Given the description of an element on the screen output the (x, y) to click on. 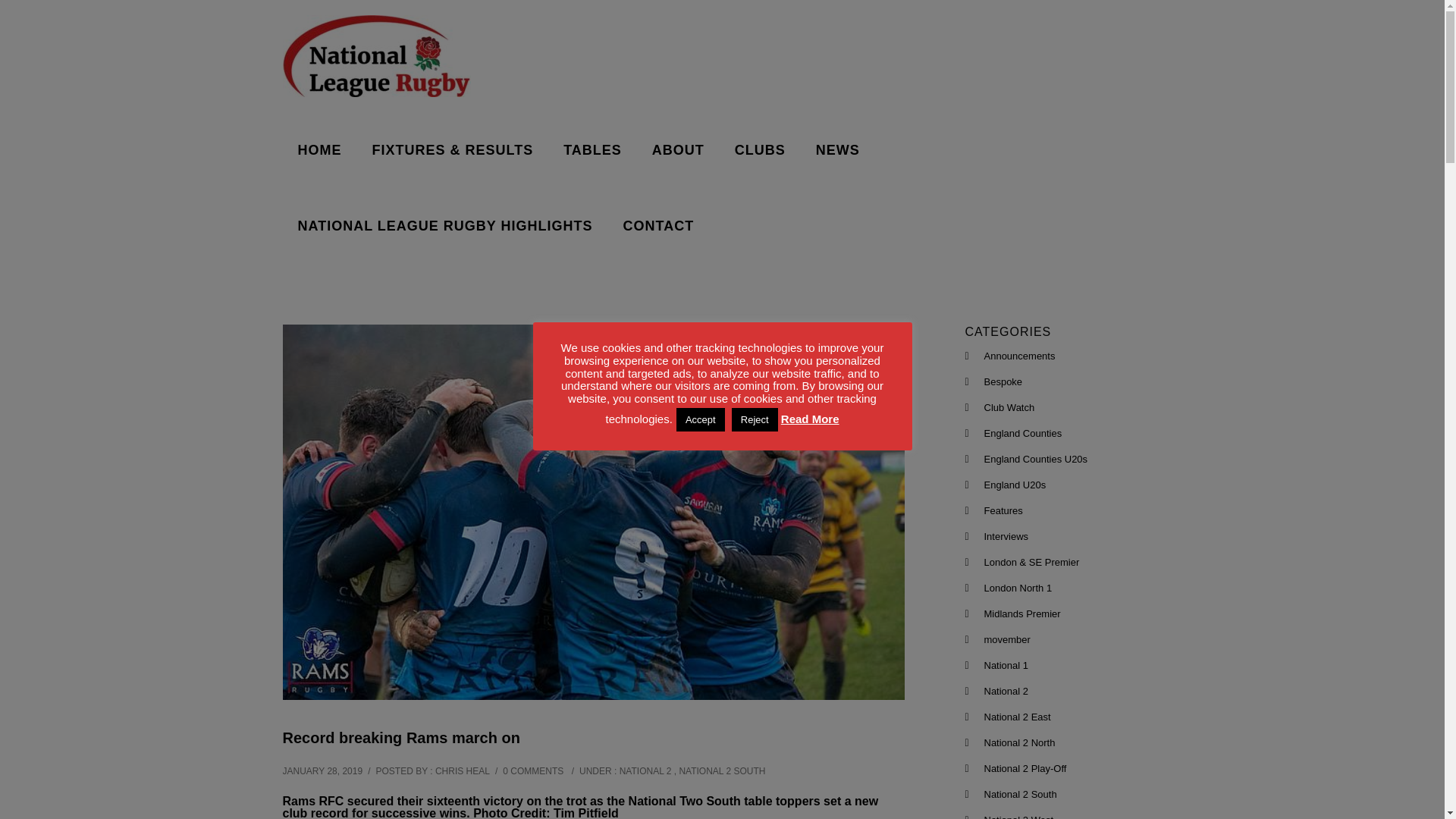
View all posts in National 2 South (721, 770)
View all posts in National 2 (645, 770)
HOME (319, 150)
TABLES (592, 150)
